Given the description of an element on the screen output the (x, y) to click on. 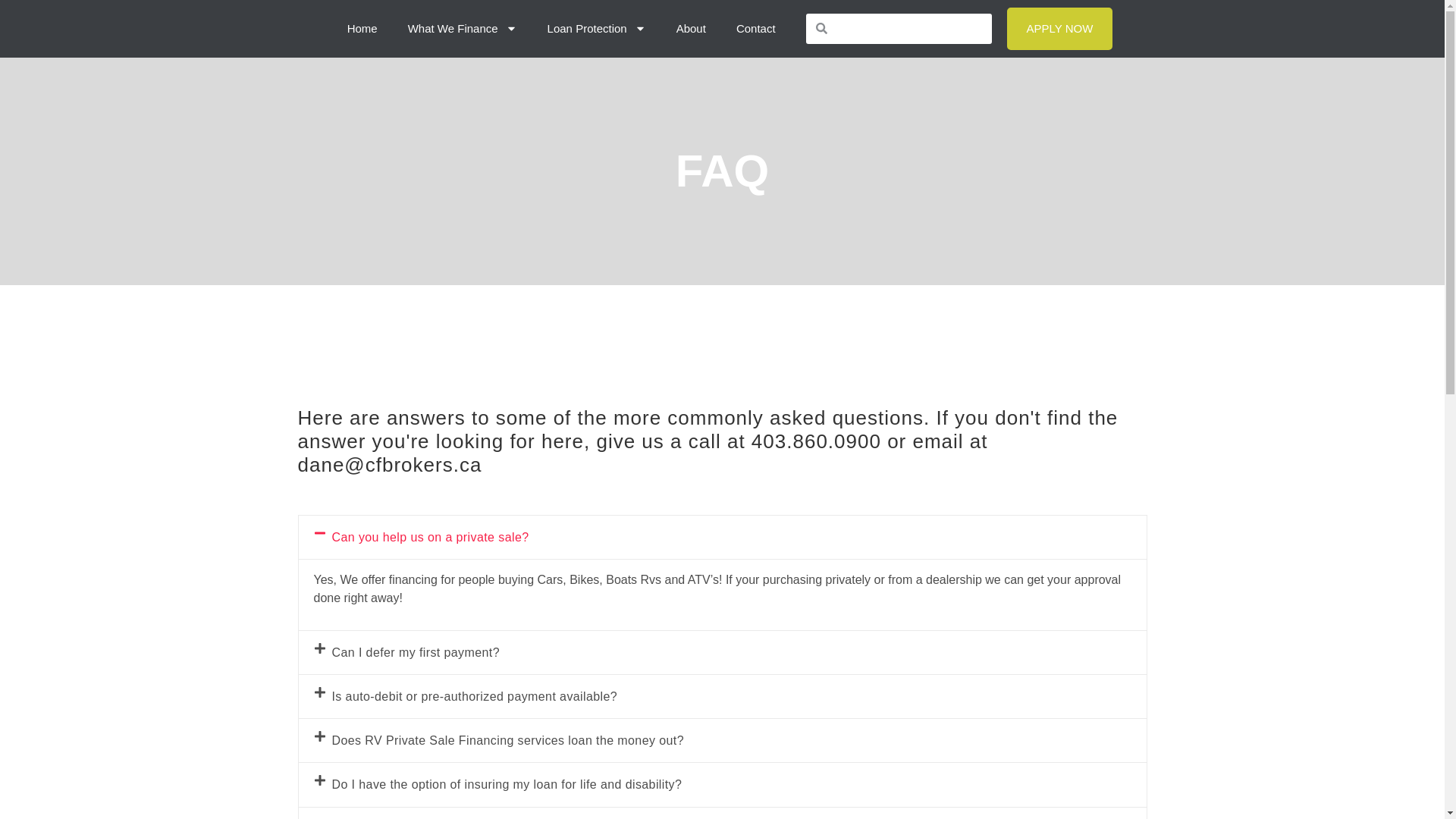
About (690, 28)
Contact (755, 28)
Loan Protection (596, 28)
Home (362, 28)
What We Finance (462, 28)
